Given the description of an element on the screen output the (x, y) to click on. 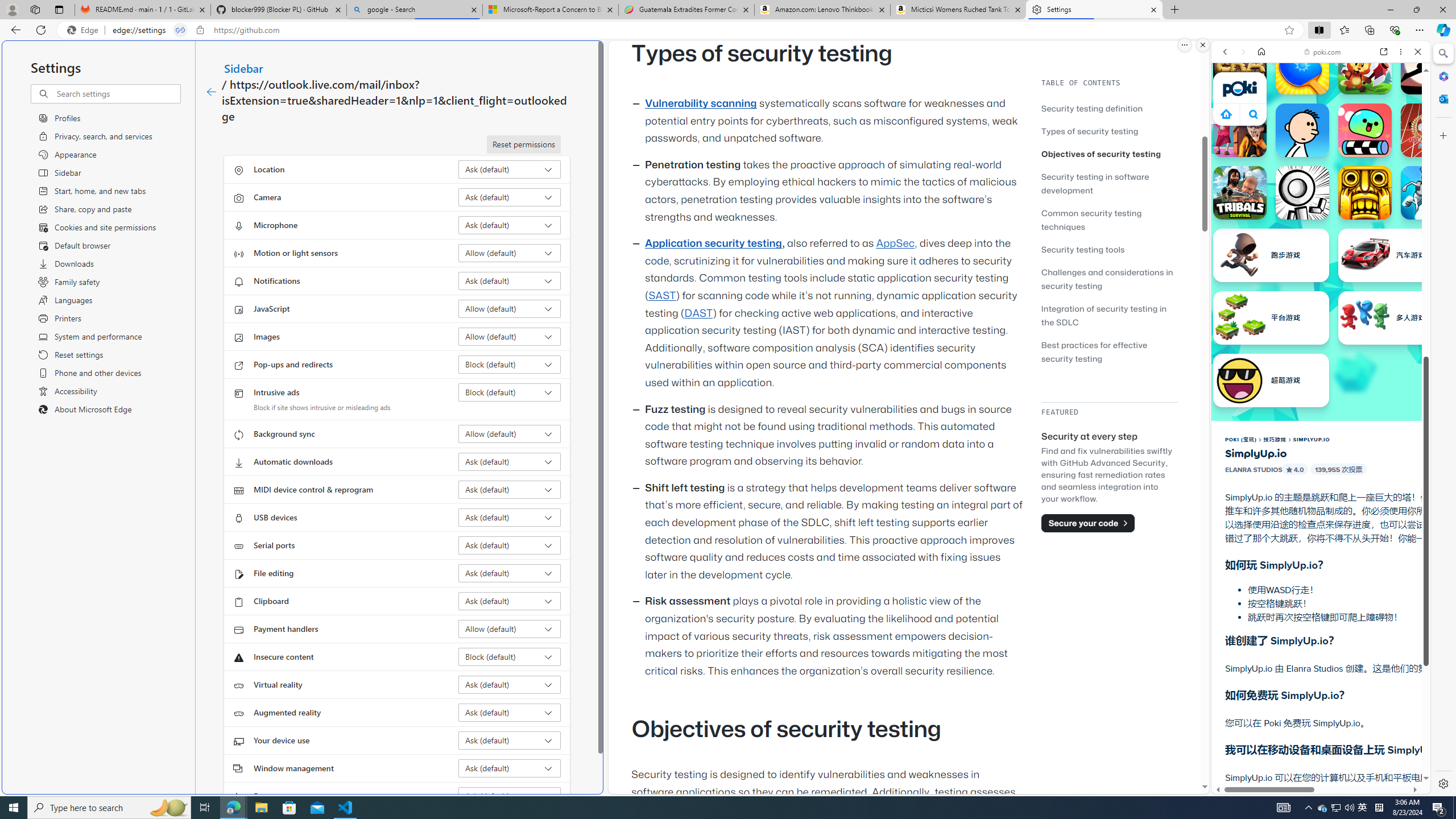
Challenges and considerations in security testing (1109, 279)
Shooting Games (1320, 295)
USB devices Ask (default) (509, 517)
Close split screen. (1202, 45)
Microphone Ask (default) (509, 225)
Security testing tools (1109, 249)
File editing Ask (default) (509, 573)
Show More Io Games (1390, 351)
Types of security testing (1089, 130)
Common security testing techniques (1091, 219)
